Given the description of an element on the screen output the (x, y) to click on. 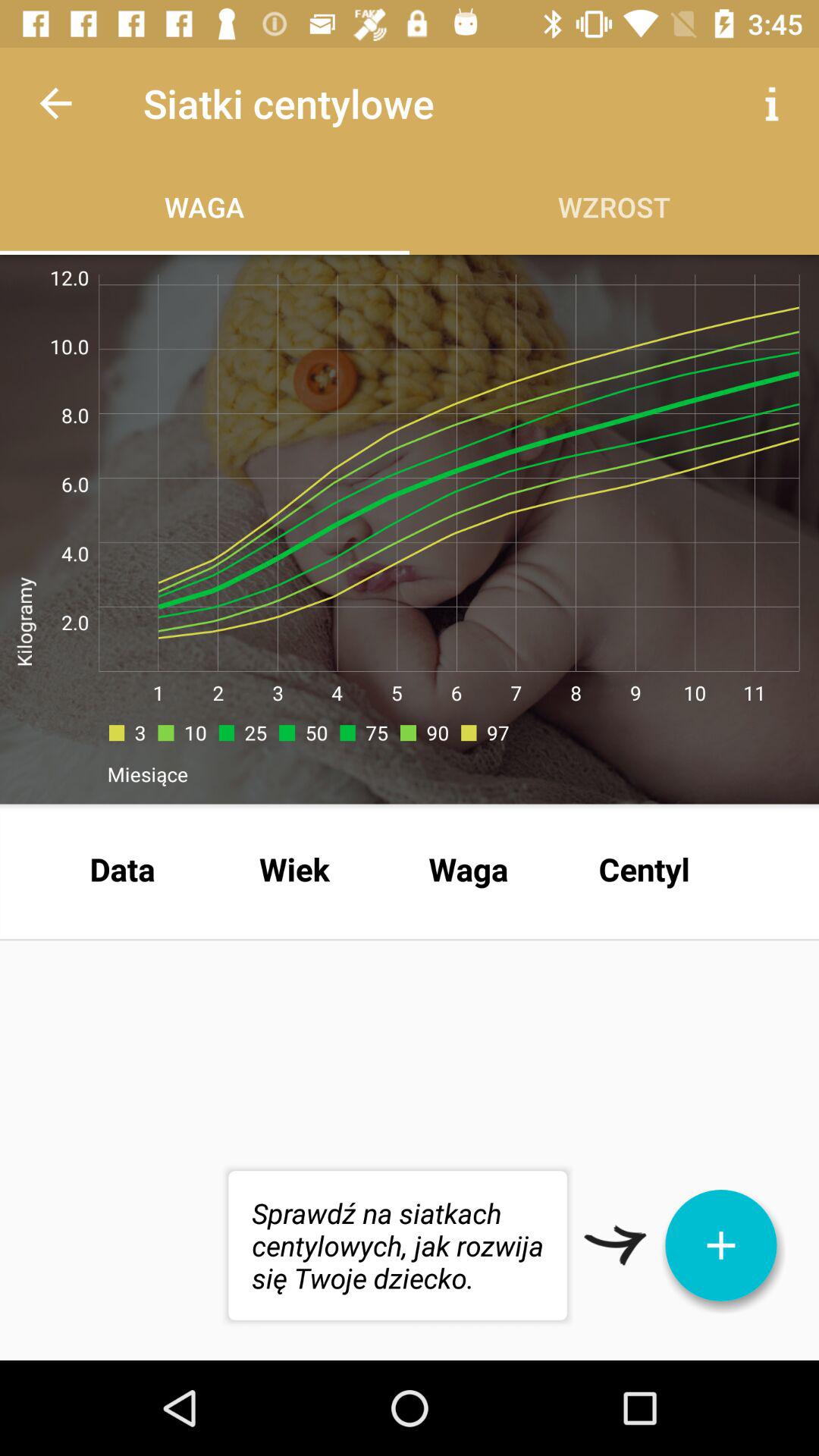
launch the icon below the centyl item (721, 1245)
